Given the description of an element on the screen output the (x, y) to click on. 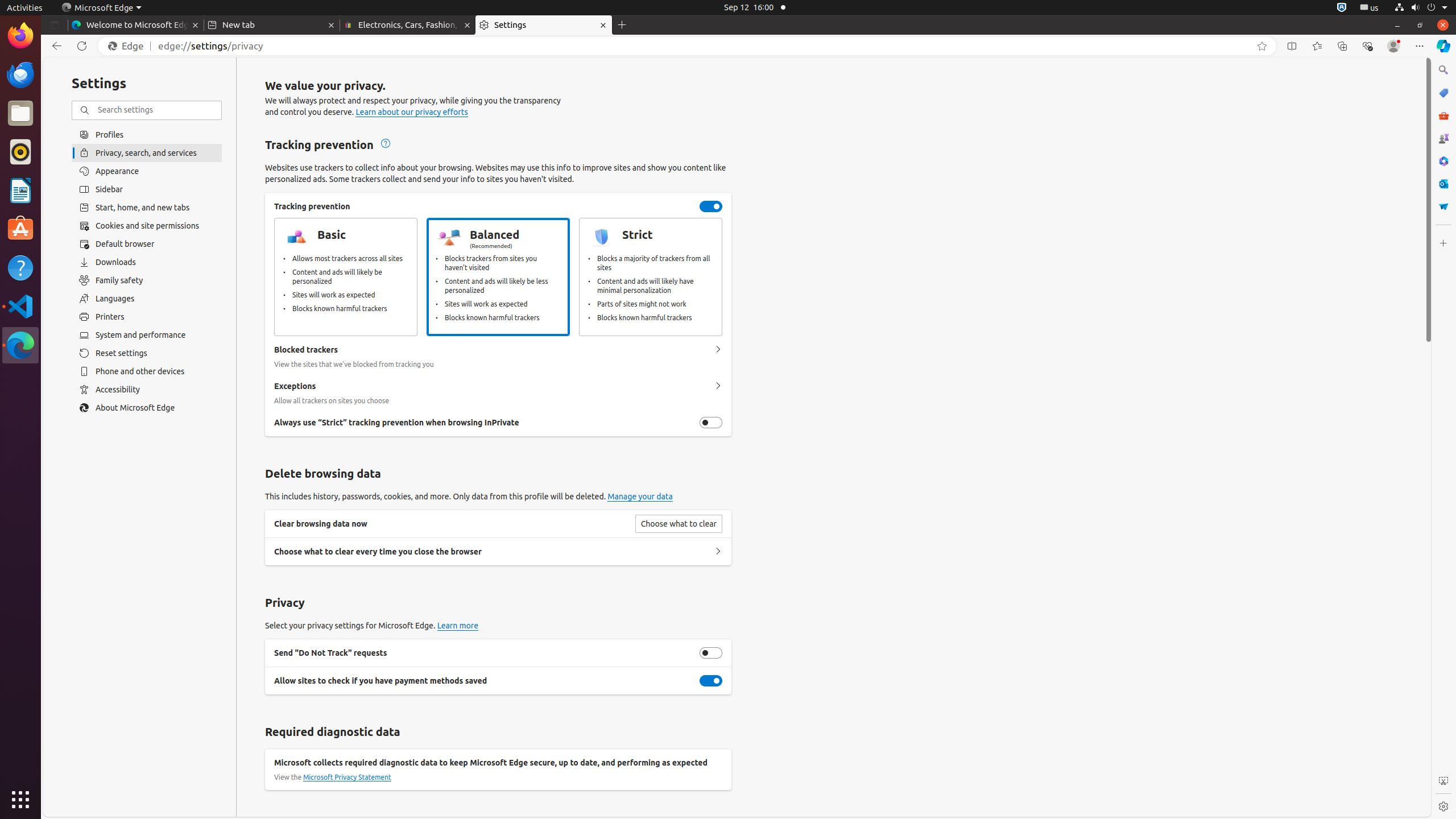
Learn more about privacy settings for Microsoft Edge Element type: link (457, 625)
Add this page to favorites (Ctrl+D) Element type: push-button (1261, 46)
Sidebar Element type: tree-item (146, 189)
Allow sites to check if you have payment methods saved Element type: check-box (710, 680)
About Microsoft Edge Element type: tree-item (146, 407)
